Given the description of an element on the screen output the (x, y) to click on. 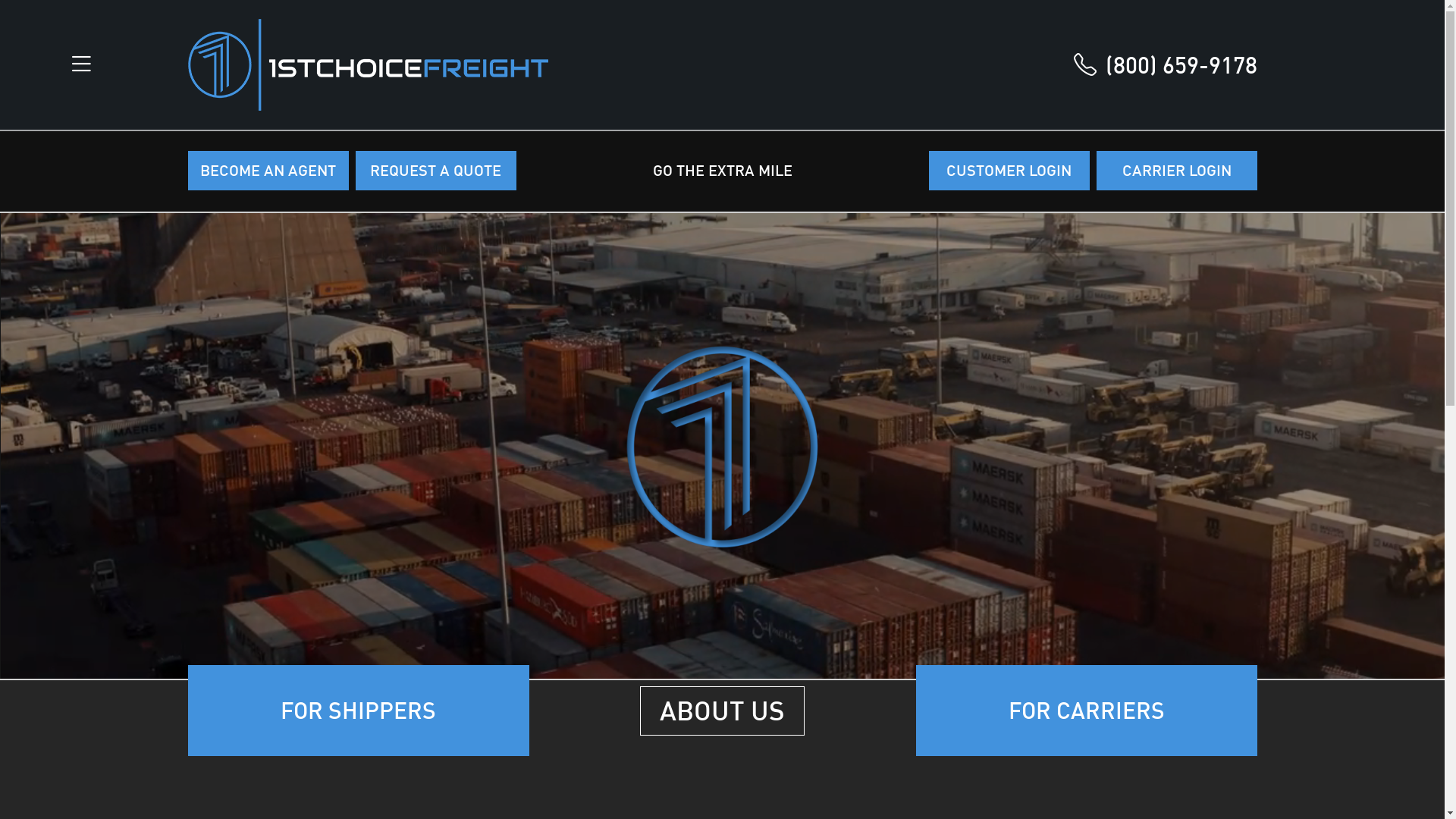
ABOUT US Element type: text (722, 709)
CARRIER LOGIN Element type: text (1176, 170)
(800) 659-9178 Element type: text (1165, 64)
FOR CARRIERS Element type: text (1086, 710)
CUSTOMER LOGIN Element type: text (1008, 170)
FOR SHIPPERS Element type: text (358, 710)
BECOME AN AGENT Element type: text (268, 170)
REQUEST A QUOTE Element type: text (434, 170)
